Given the description of an element on the screen output the (x, y) to click on. 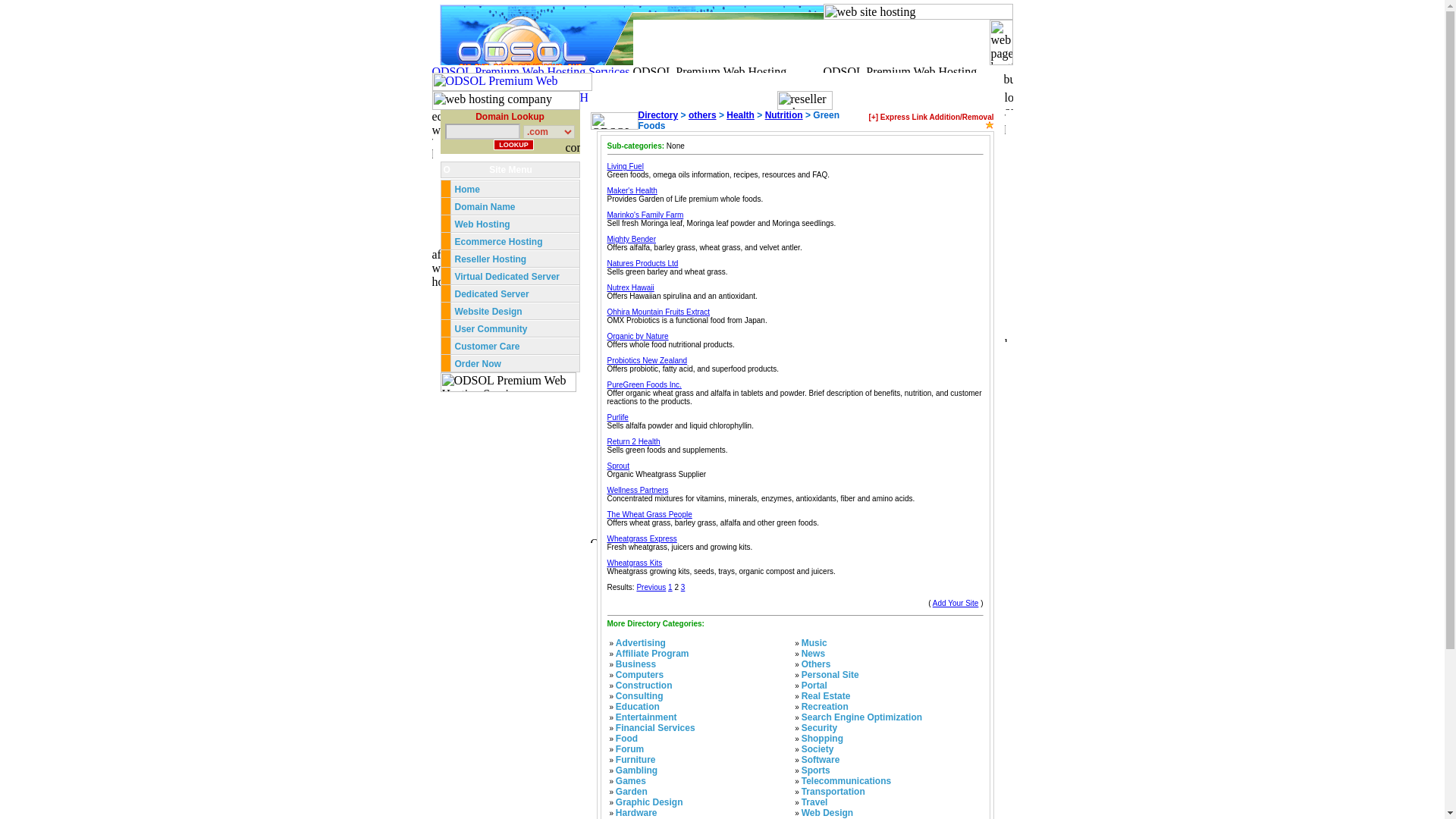
User Community (490, 328)
Wheatgrass Kits (634, 562)
Sprout (617, 465)
LOOKUP (513, 144)
Dedicated Server (492, 294)
Nutrition (784, 114)
LOOKUP (513, 144)
Domain Name (484, 206)
Ohhira Mountain Fruits Extract (658, 311)
Website Design (488, 311)
Wheatgrass Express (642, 538)
Wellness Partners (637, 490)
others (702, 114)
Maker's Health (631, 190)
Order Now (477, 363)
